Given the description of an element on the screen output the (x, y) to click on. 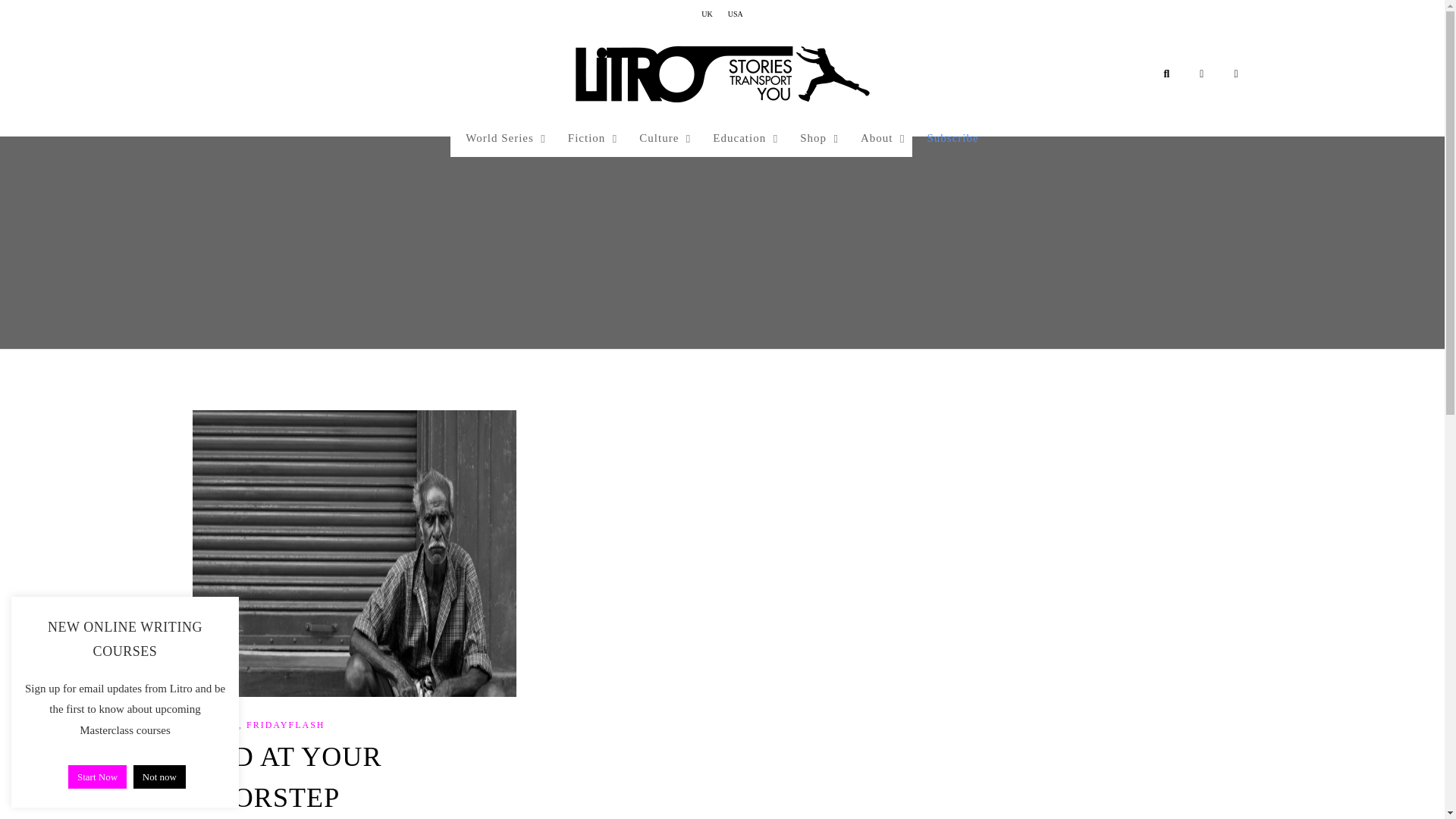
USA (735, 13)
Fiction (588, 138)
UK (706, 13)
World Series (501, 138)
God at Your Doorstep (354, 553)
Litro Magazine USA (722, 74)
